Given the description of an element on the screen output the (x, y) to click on. 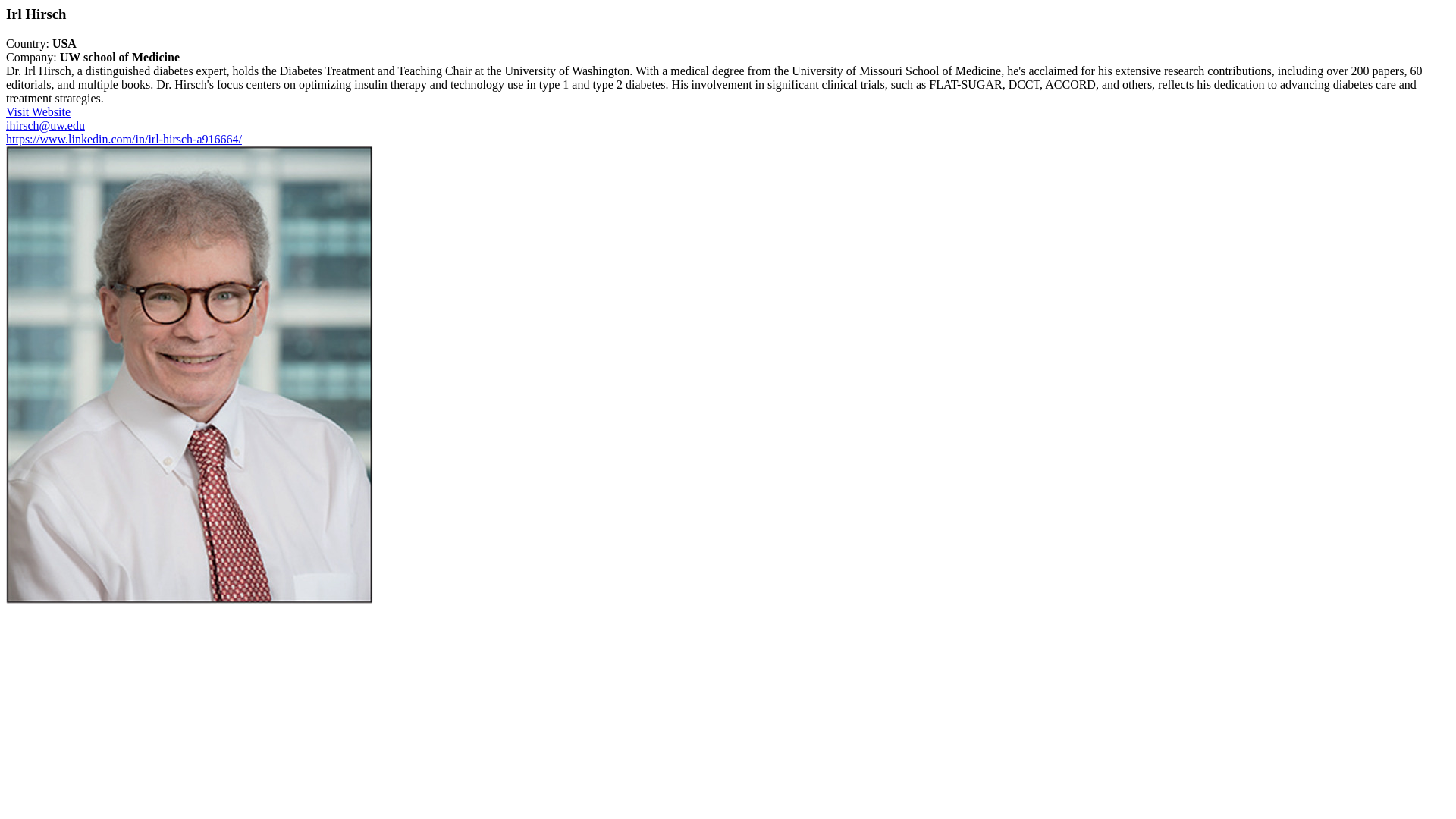
Visit Website (37, 111)
